Given the description of an element on the screen output the (x, y) to click on. 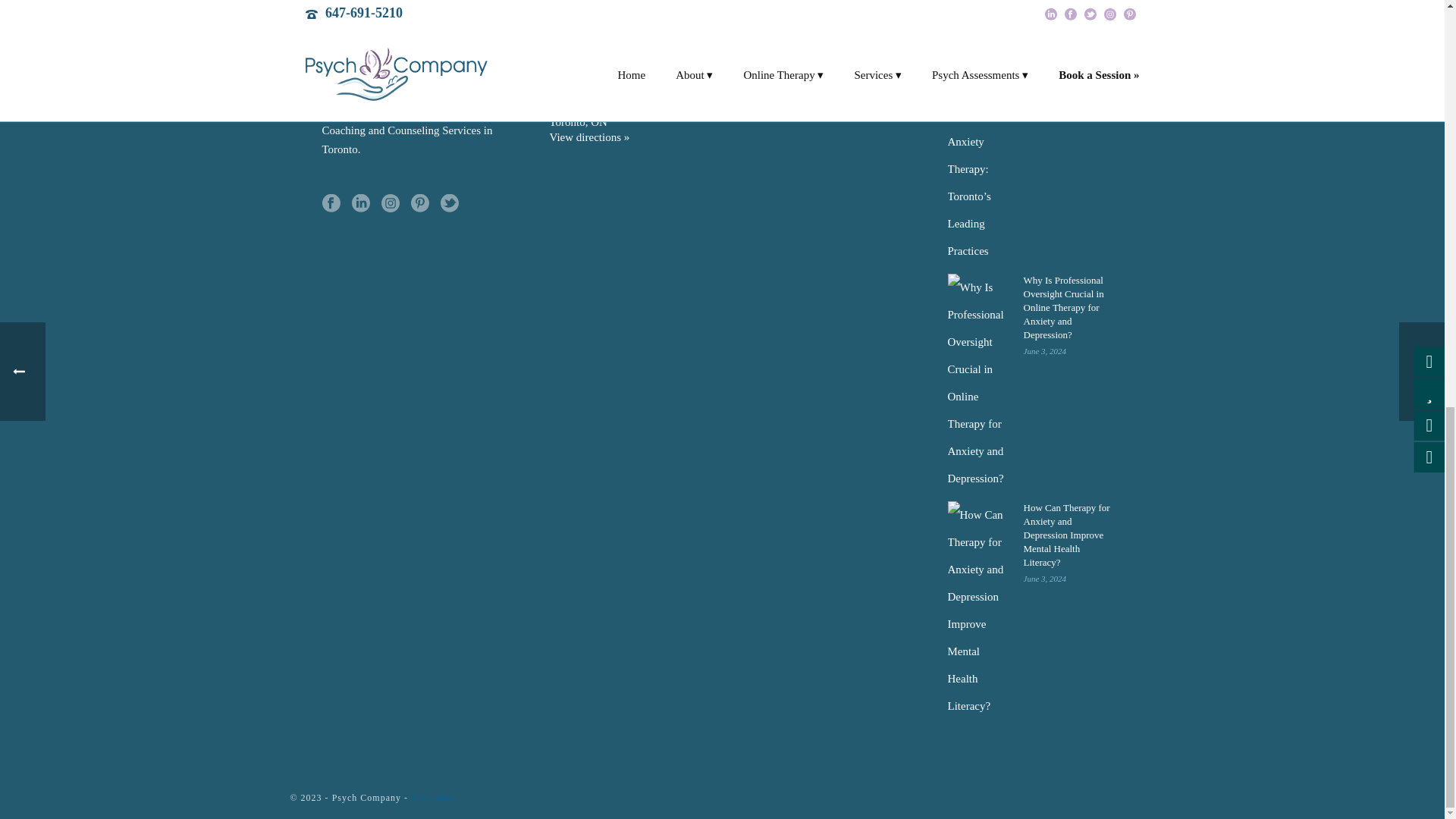
Follow Us on pinterest (419, 204)
Follow Us on linkedin (360, 204)
Follow Us on facebook (330, 204)
Follow Us on twitter (448, 204)
